Given the description of an element on the screen output the (x, y) to click on. 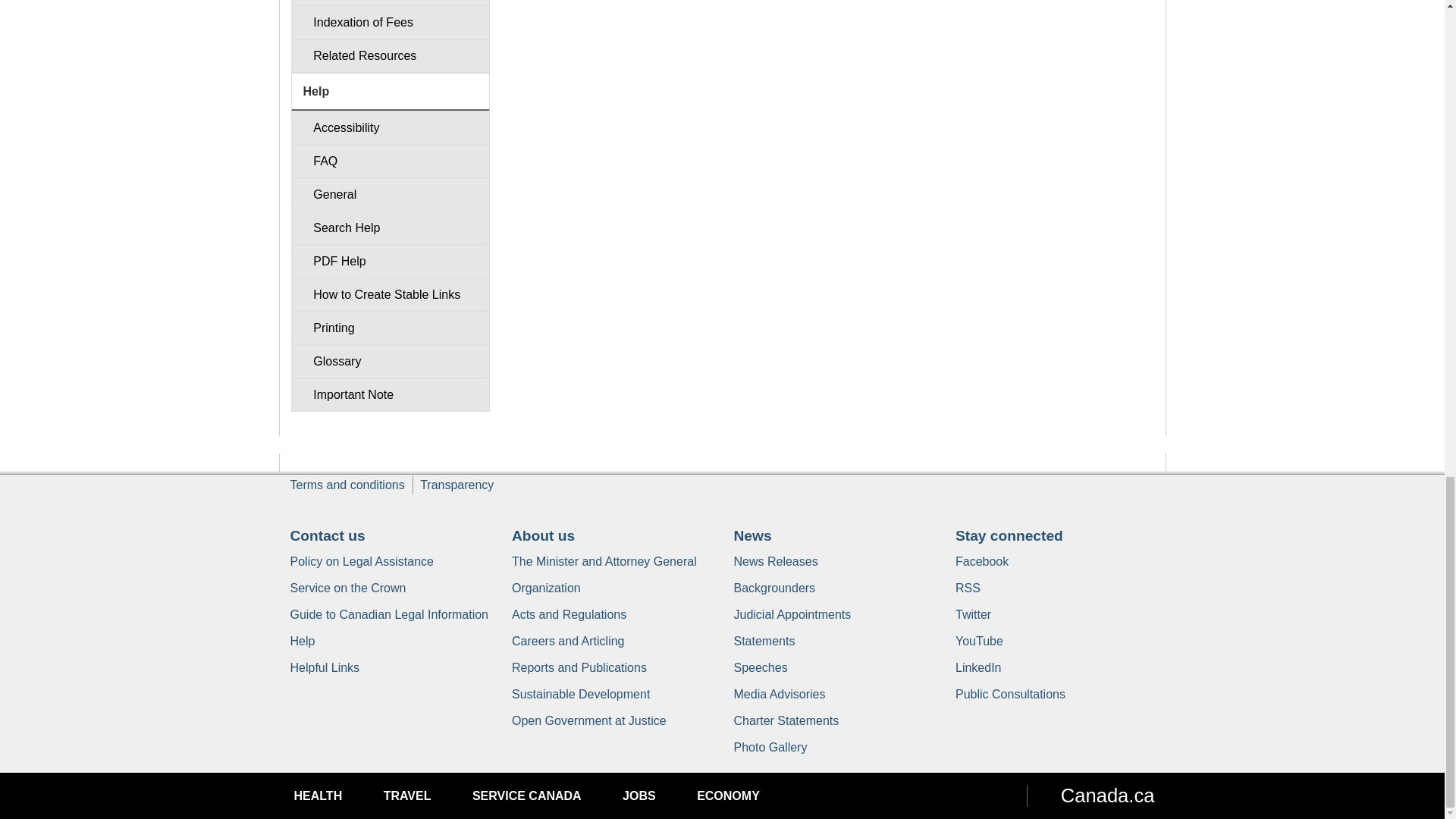
Consolidated Index of Statutory Instruments (390, 2)
Accessibility Help (390, 127)
Related Resources (390, 55)
Printing Help (390, 327)
Helpful links (324, 667)
General Help (390, 194)
Frequently Asked Questions (390, 161)
